Given the description of an element on the screen output the (x, y) to click on. 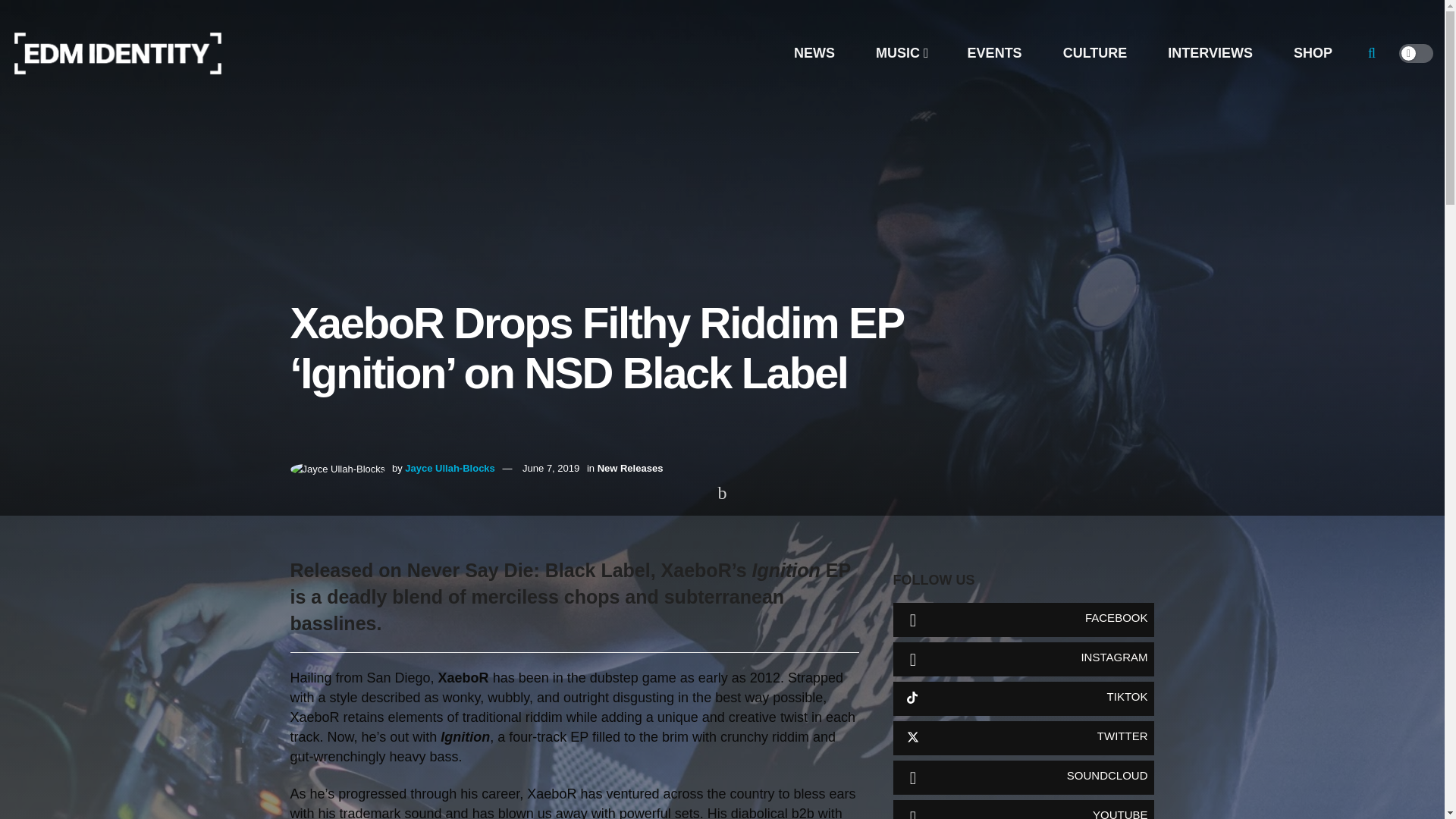
INTERVIEWS (1210, 53)
New Releases (629, 468)
Jayce Ullah-Blocks (449, 468)
June 7, 2019 (550, 468)
MUSIC (901, 53)
CULTURE (1095, 53)
EVENTS (994, 53)
NEWS (814, 53)
SHOP (1312, 53)
